Given the description of an element on the screen output the (x, y) to click on. 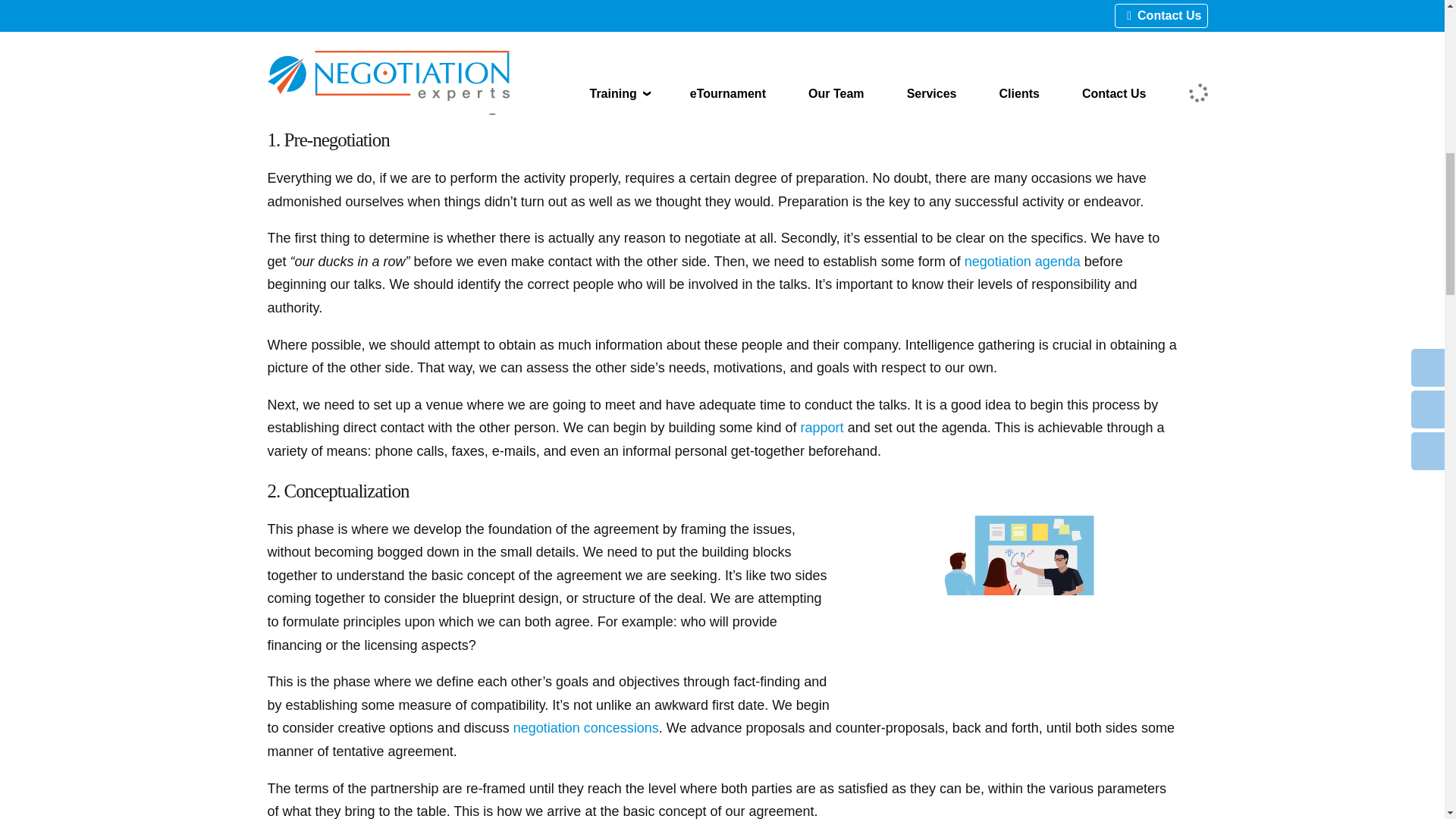
concession (586, 727)
rapport (822, 427)
agenda (1021, 261)
